Given the description of an element on the screen output the (x, y) to click on. 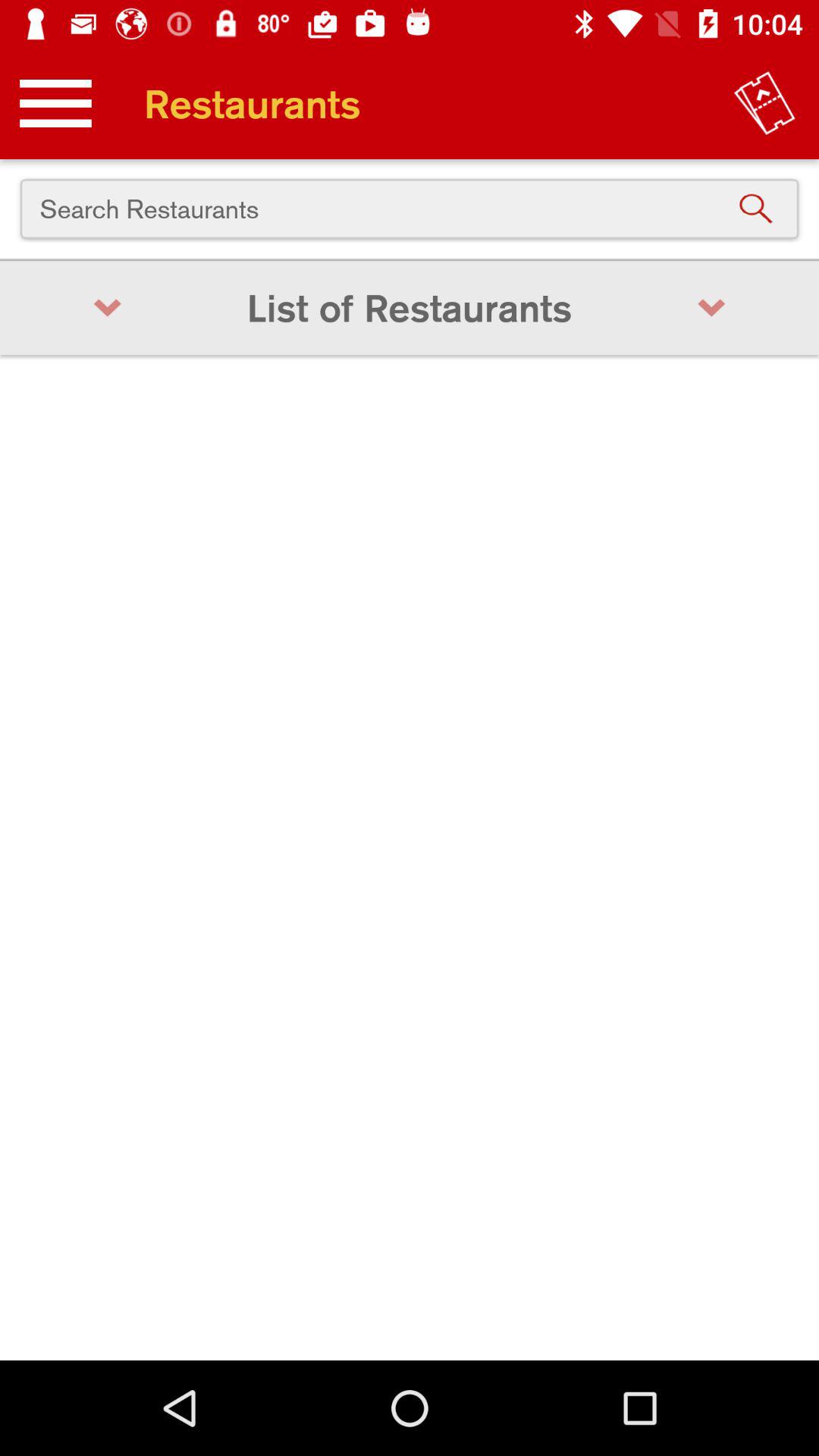
jump to list of restaurants item (409, 307)
